Given the description of an element on the screen output the (x, y) to click on. 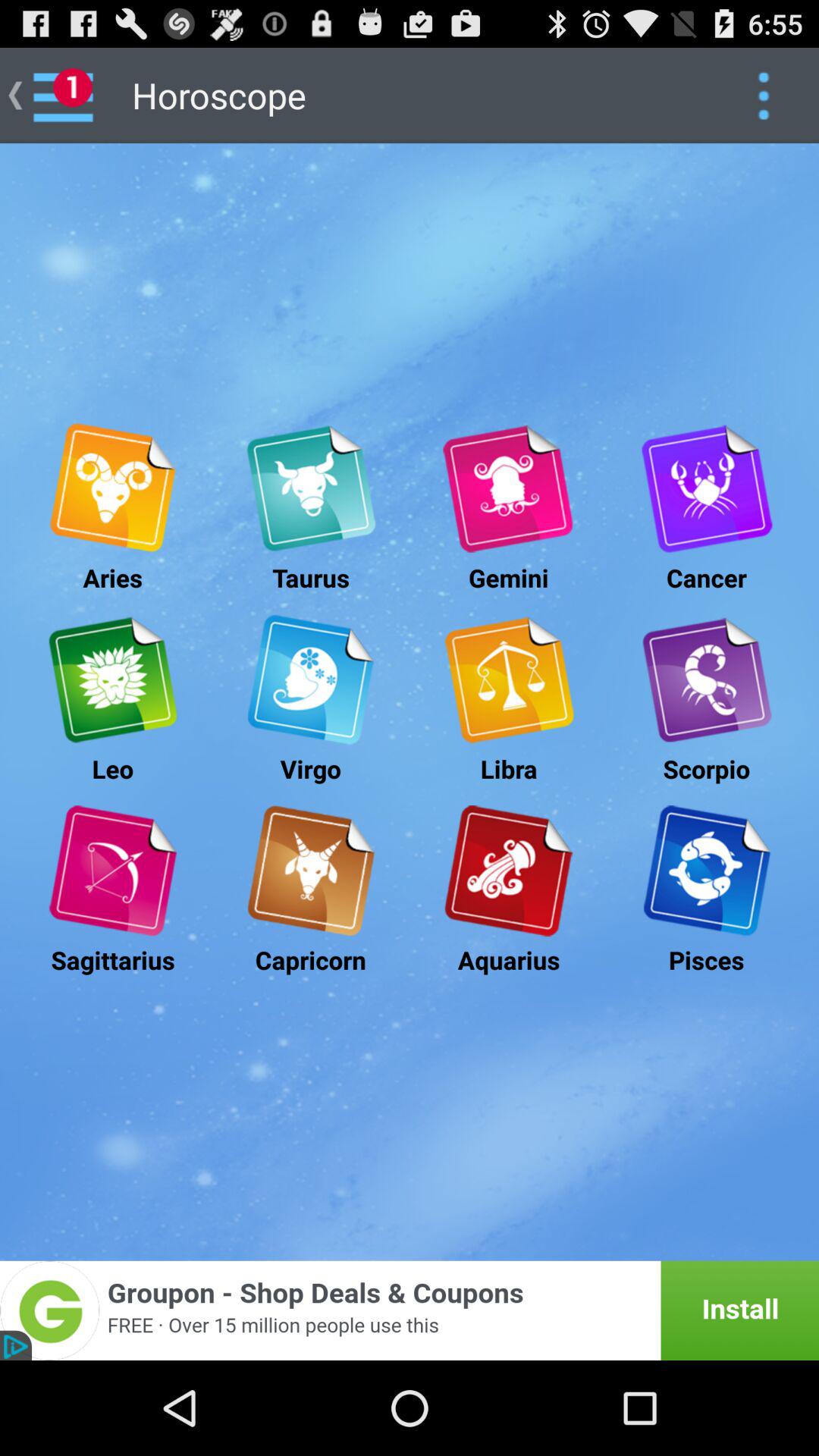
pop up advertisement for groupon app (409, 1310)
